Given the description of an element on the screen output the (x, y) to click on. 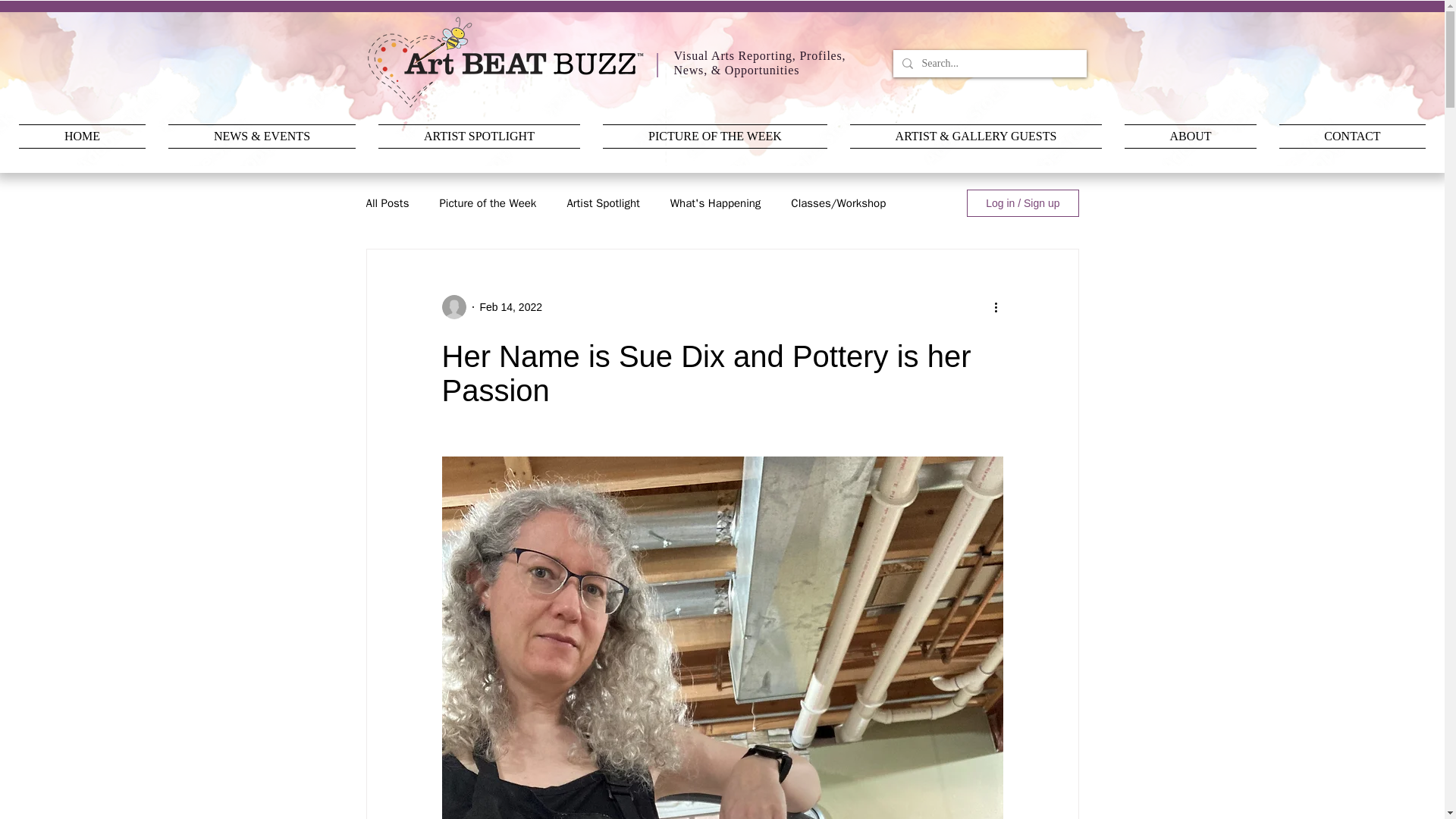
ABOUT (1190, 136)
PICTURE OF THE WEEK (714, 136)
Feb 14, 2022 (510, 306)
CONTACT (1346, 136)
HOME (87, 136)
ARTIST SPOTLIGHT (478, 136)
Artist Spotlight (602, 202)
All Posts (387, 202)
What's Happening (715, 202)
Picture of the Week (487, 202)
